Given the description of an element on the screen output the (x, y) to click on. 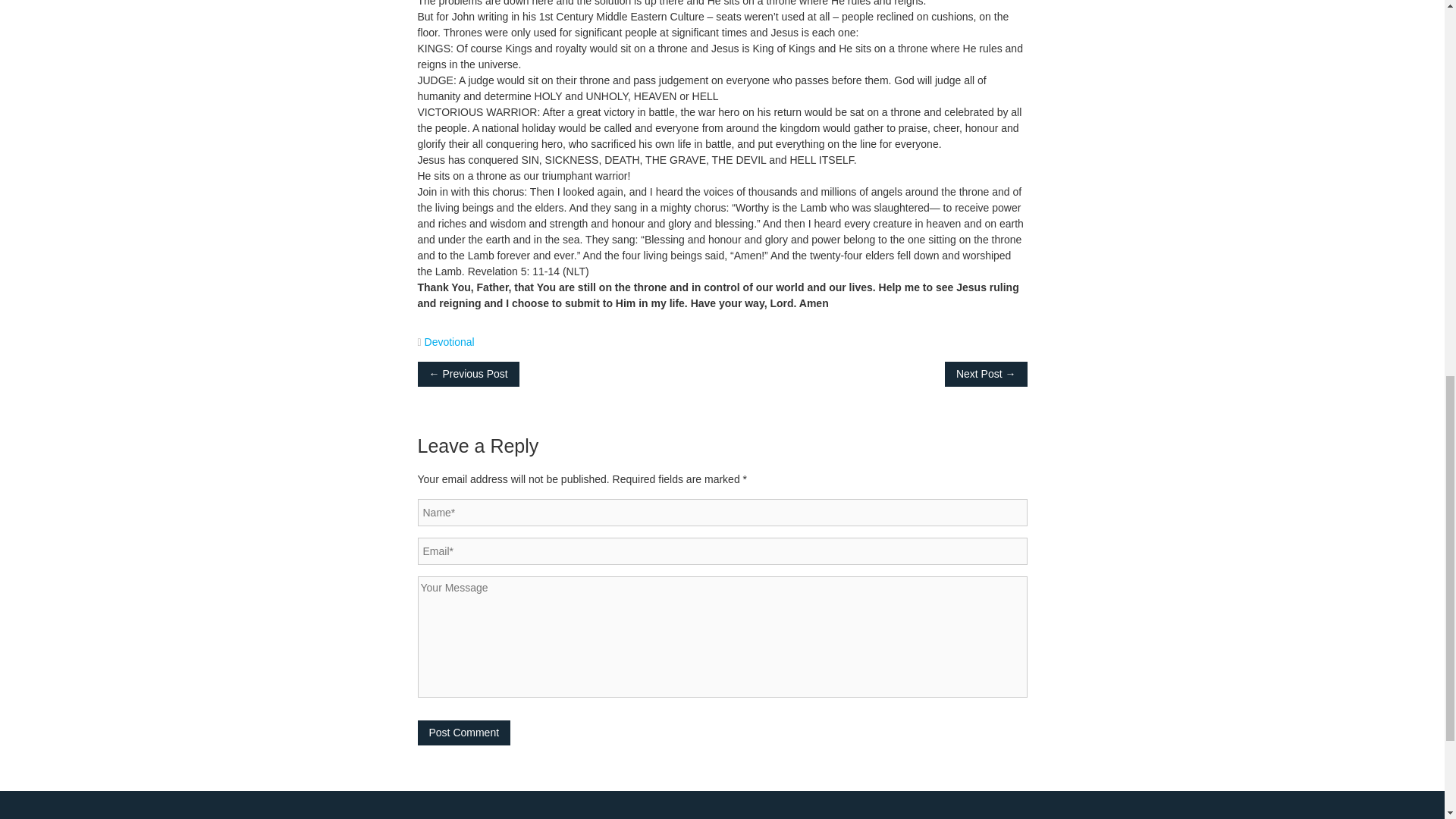
Post Comment (463, 732)
Post Comment (463, 732)
Devotional (449, 340)
